Given the description of an element on the screen output the (x, y) to click on. 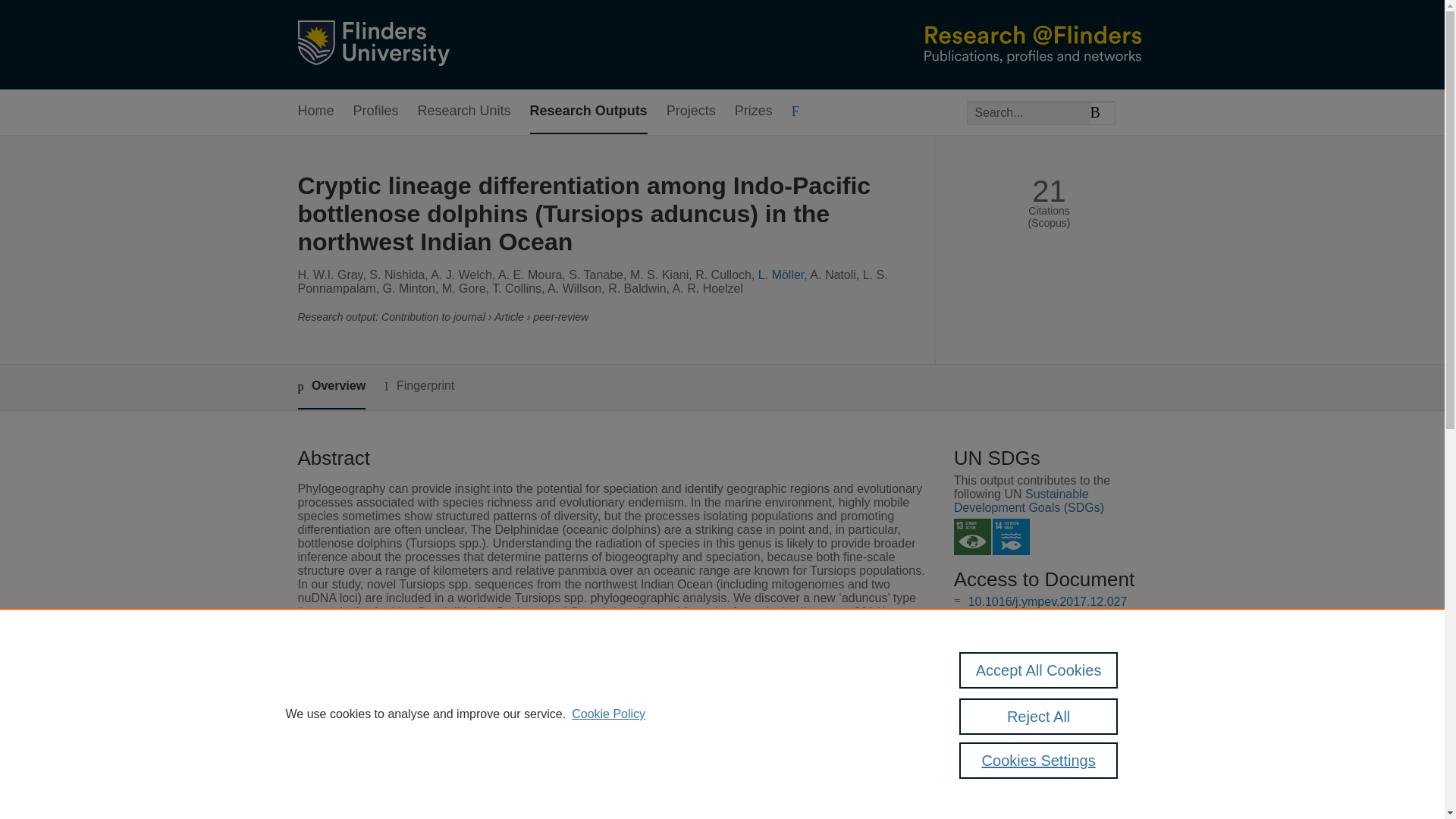
Research Outputs (588, 111)
Research Units (464, 111)
SDG 14 - Life Below Water (1010, 537)
Profiles (375, 111)
SDG 13 - Climate Action (972, 537)
Projects (691, 111)
Molecular Phylogenetics and Evolution (611, 771)
Link to publication in Scopus (1045, 675)
Overview (331, 386)
Fingerprint (419, 385)
In Copyright (1034, 616)
